Given the description of an element on the screen output the (x, y) to click on. 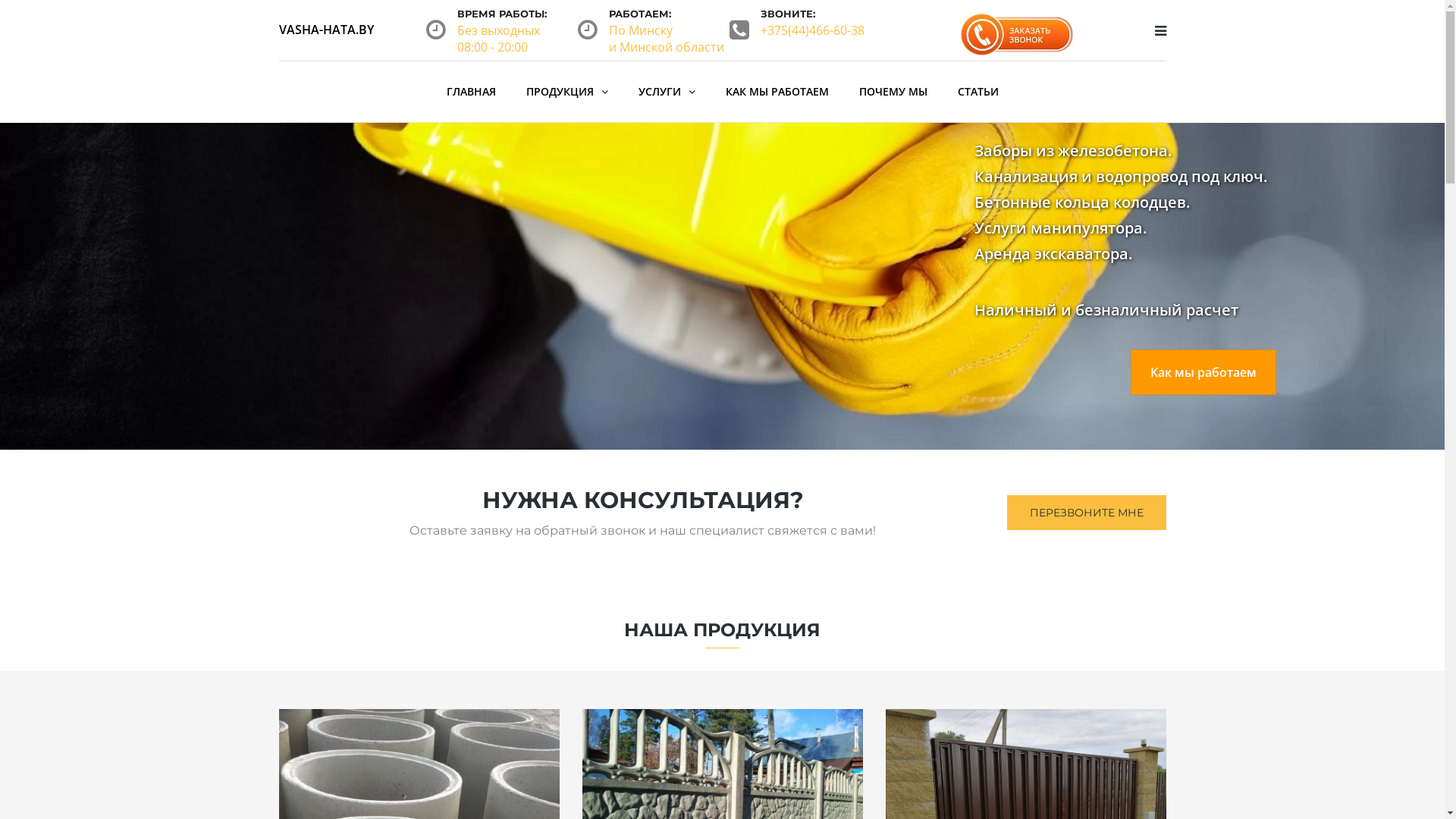
VASHA-HATA.BY Element type: text (326, 29)
